Given the description of an element on the screen output the (x, y) to click on. 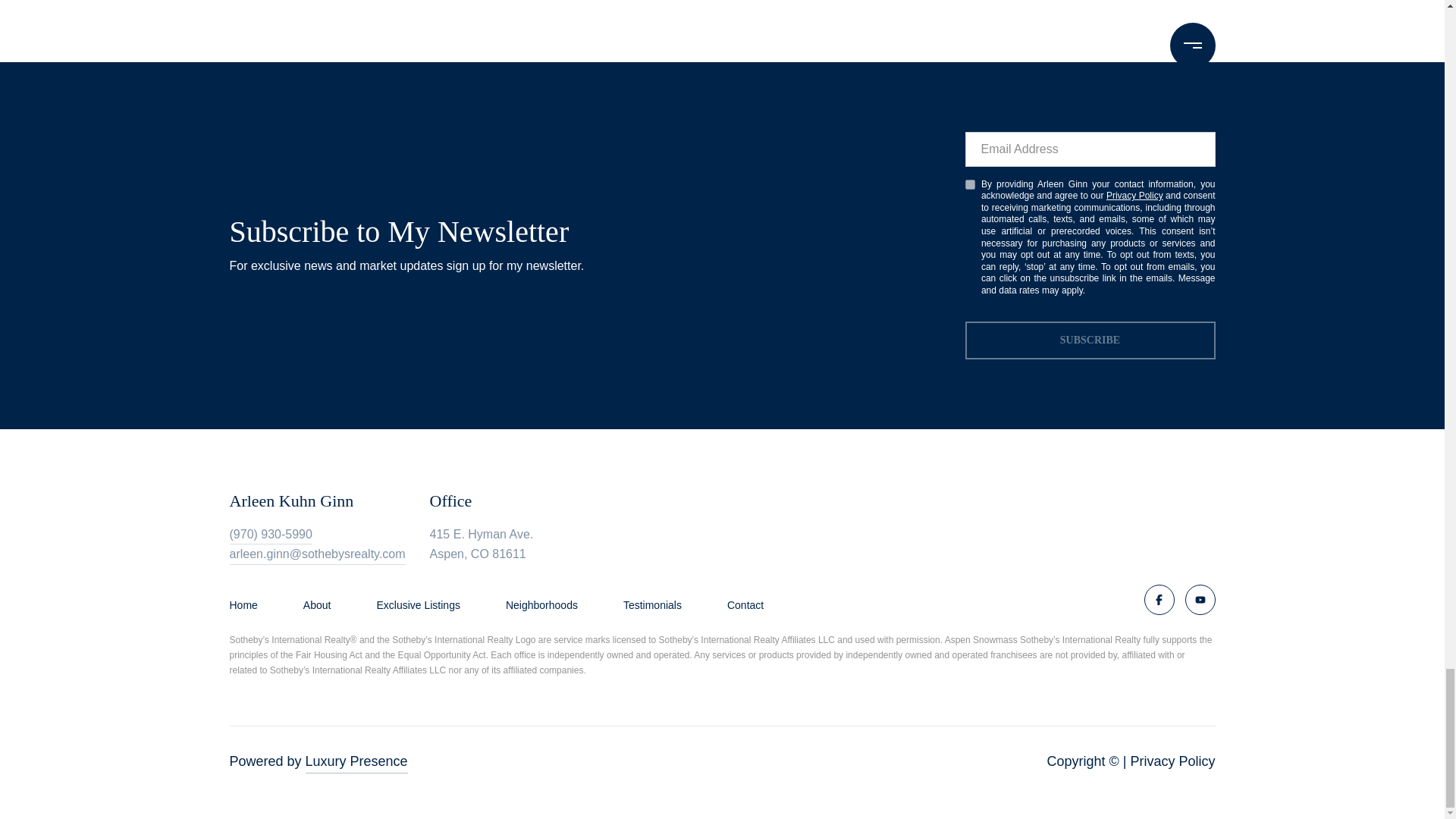
Email Address (316, 554)
on (968, 184)
Phone Number (269, 534)
